Given the description of an element on the screen output the (x, y) to click on. 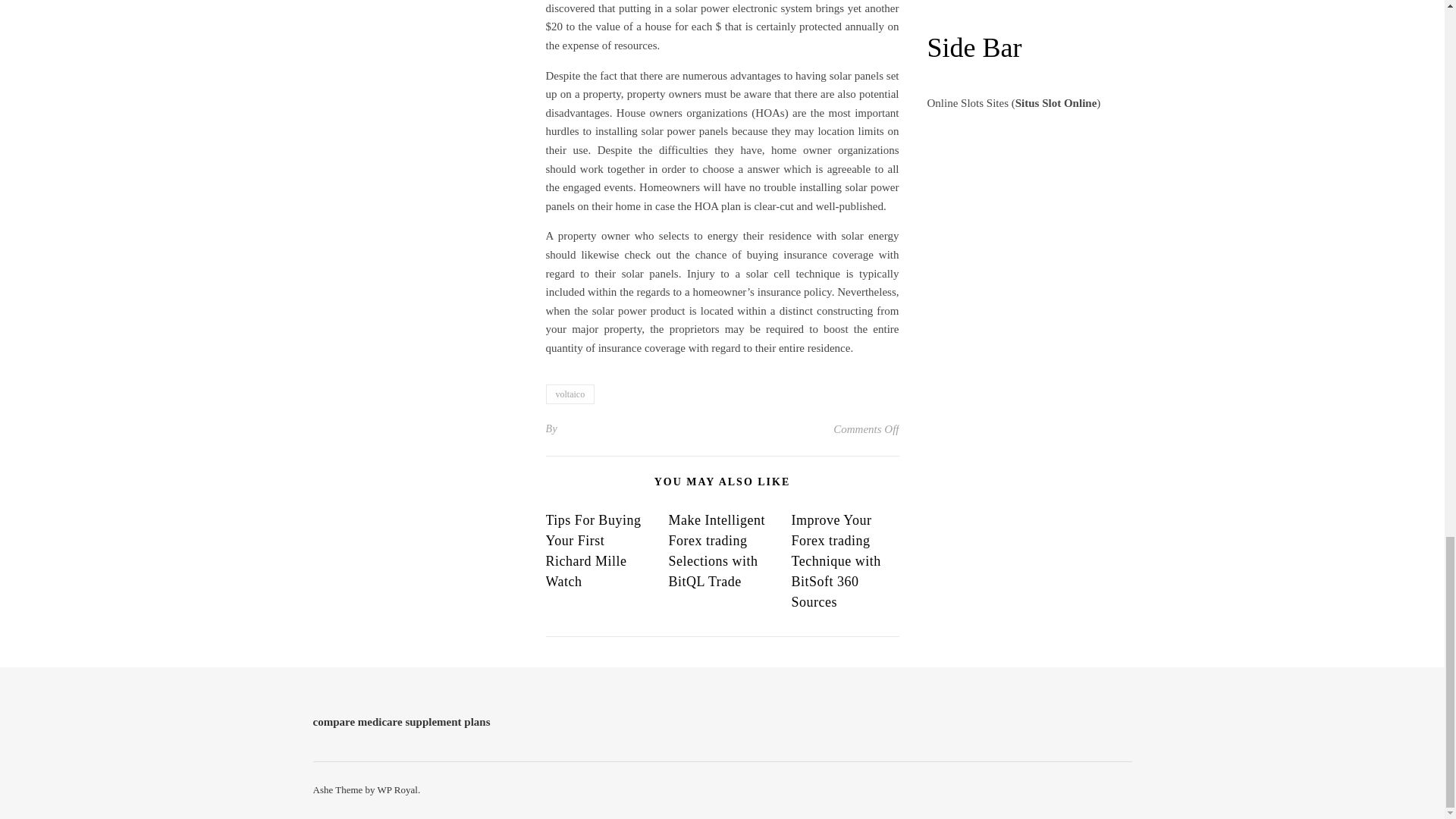
Make Intelligent Forex trading Selections with BitQL Trade (716, 549)
Tips For Buying Your First Richard Mille Watch (594, 549)
voltaico (570, 394)
